Given the description of an element on the screen output the (x, y) to click on. 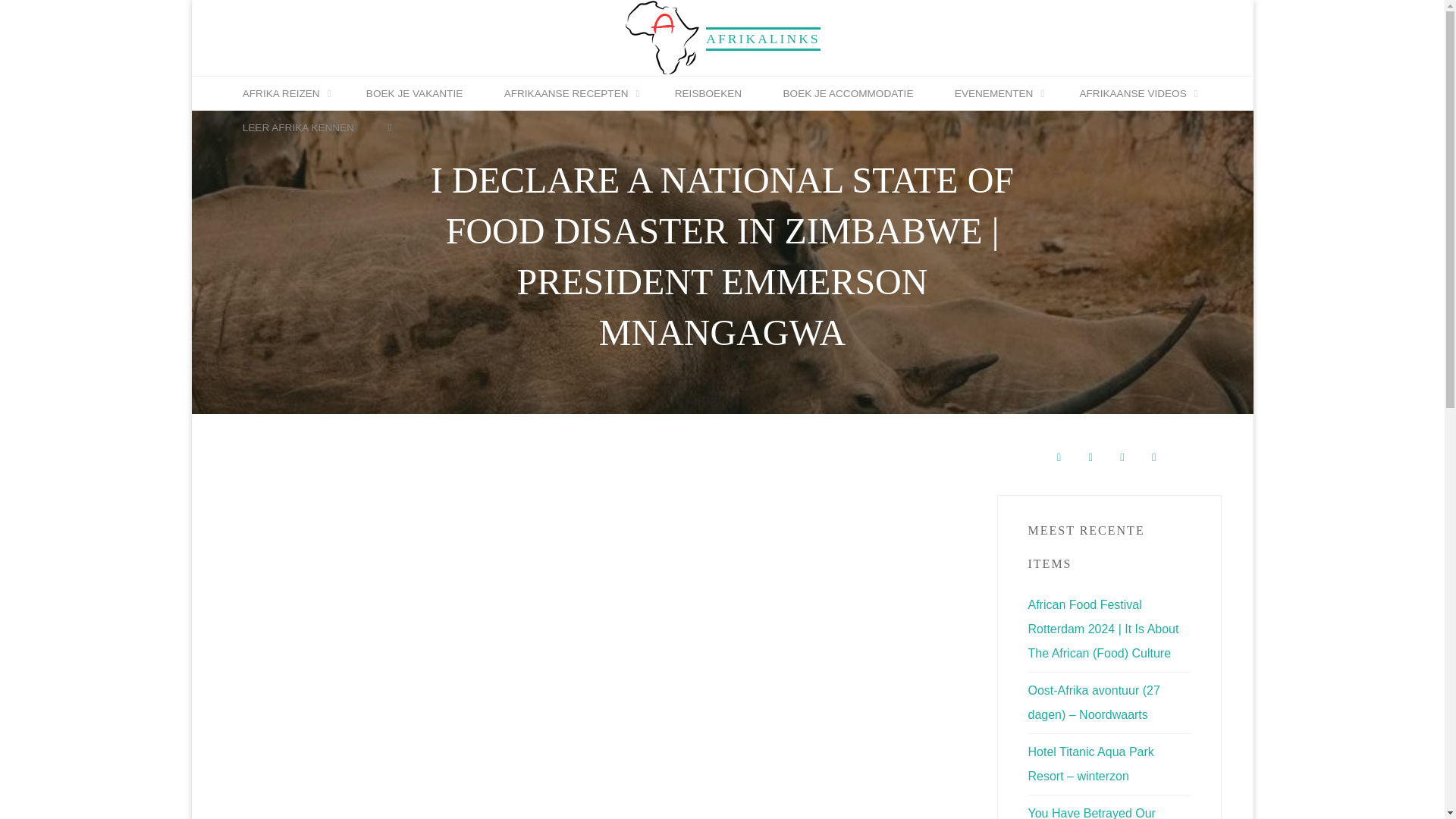
Facebook (1058, 457)
Twitter (1153, 457)
Ontdek het mooie Afrika! (762, 38)
Instagram (1121, 457)
AFRIKALINKS (762, 38)
Afrikalinks (662, 36)
Afropean Kitchen (1090, 457)
